Given the description of an element on the screen output the (x, y) to click on. 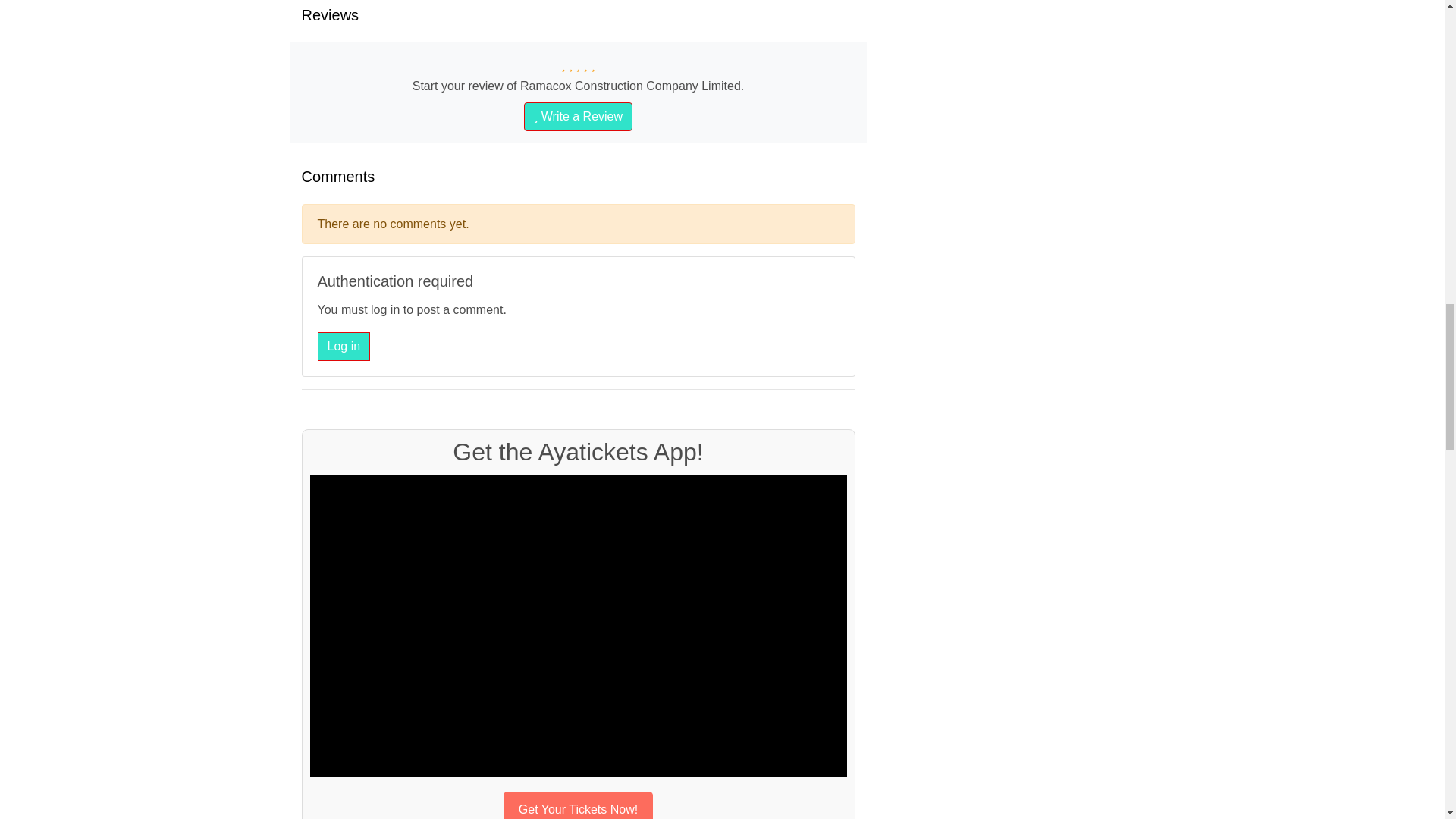
Log in (343, 346)
Write a Review (577, 116)
Get Your Tickets Now! (577, 805)
